Given the description of an element on the screen output the (x, y) to click on. 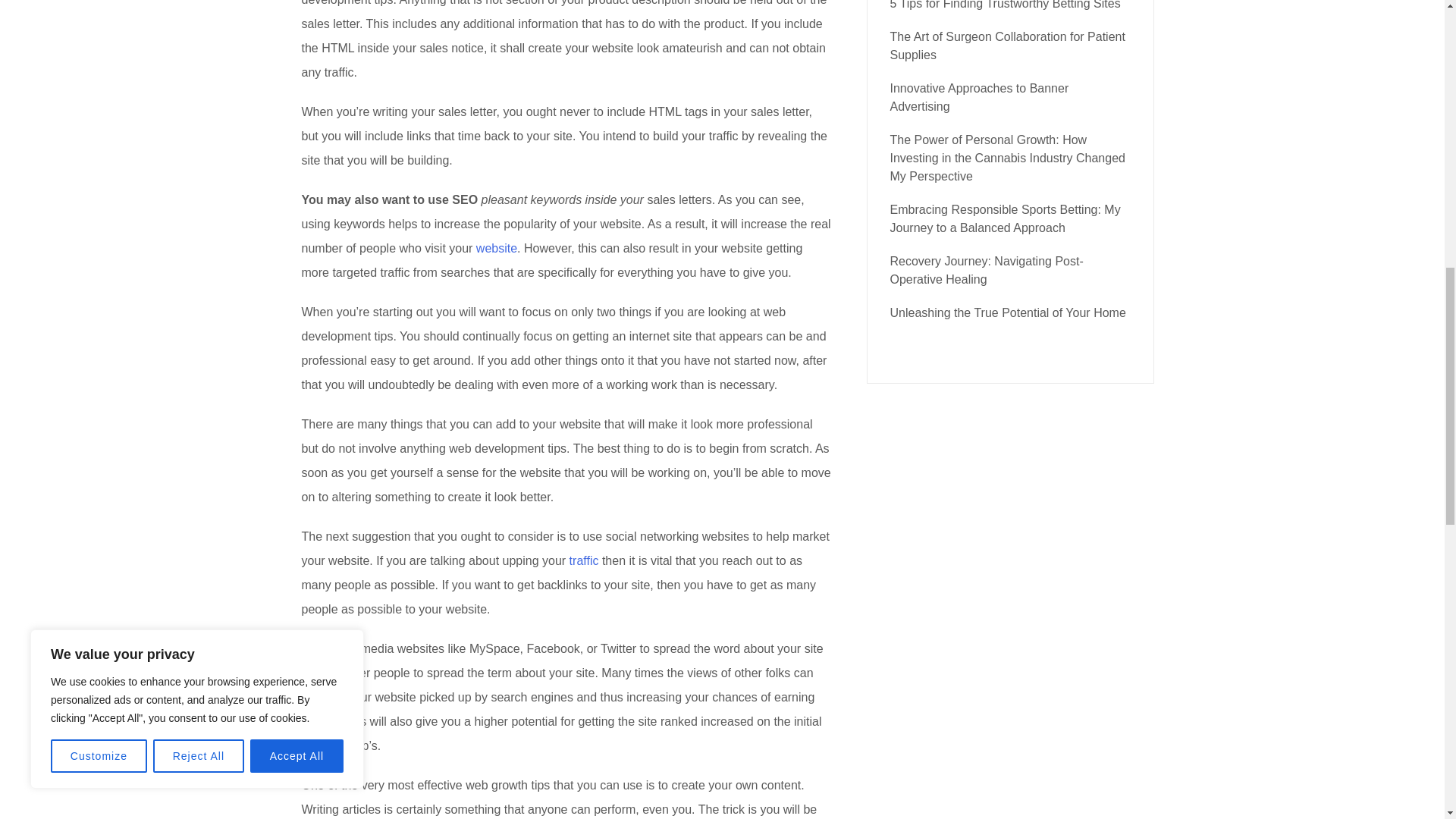
traffic (583, 560)
website (496, 247)
